Given the description of an element on the screen output the (x, y) to click on. 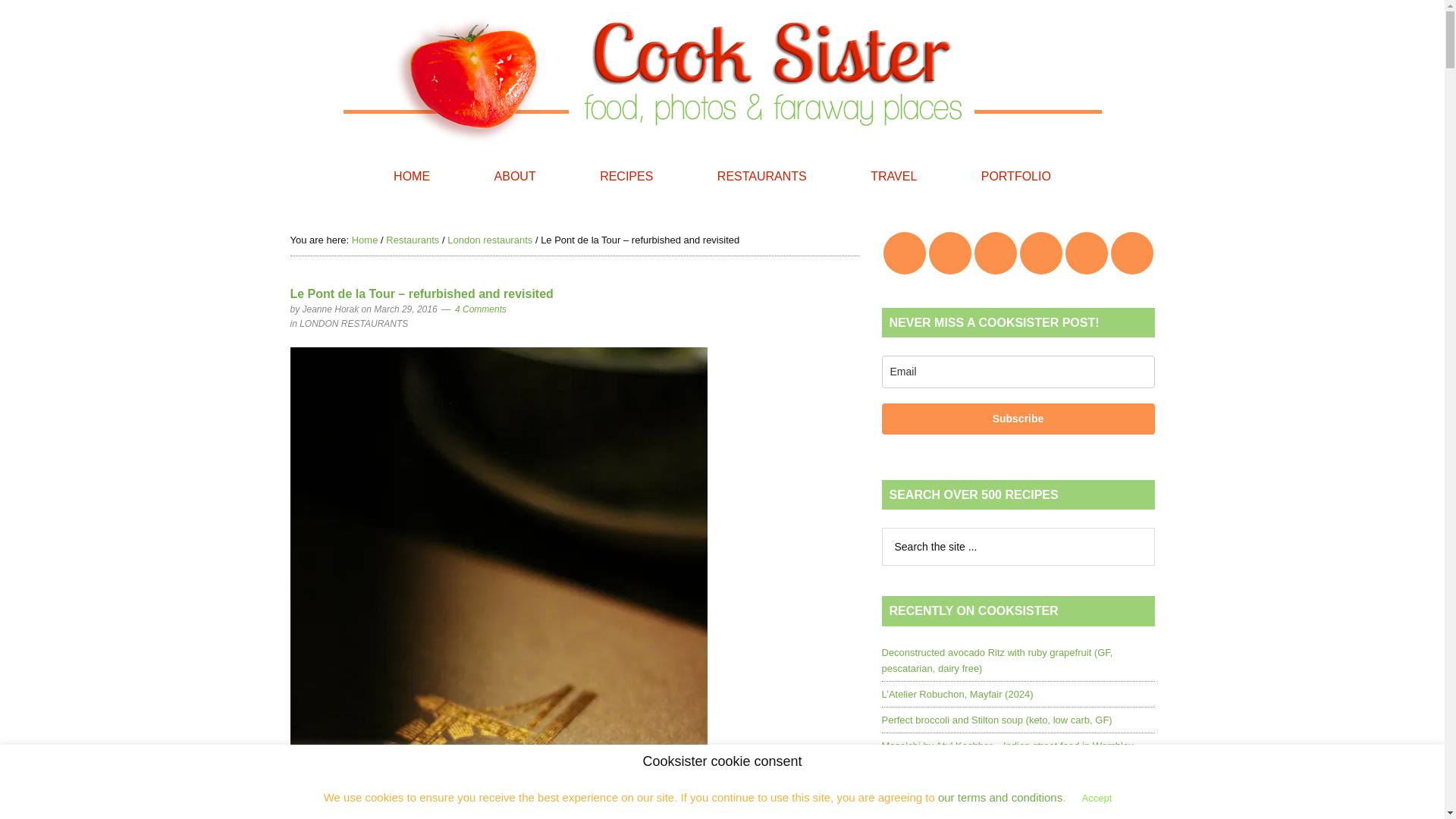
RECIPES (626, 176)
RESTAURANTS (761, 176)
ABOUT (515, 176)
HOME (411, 176)
